Given the description of an element on the screen output the (x, y) to click on. 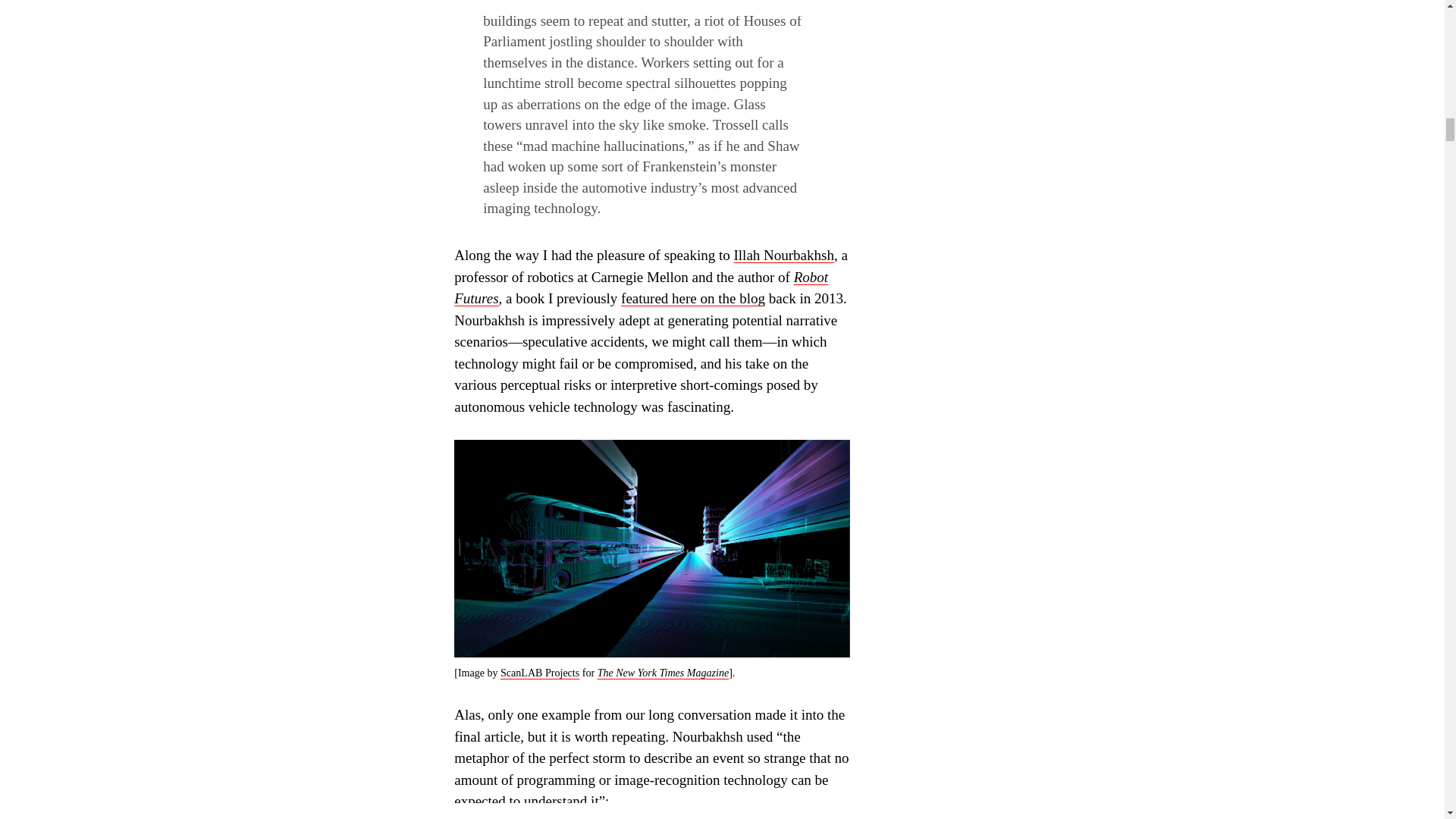
The New York Times Magazine (662, 672)
Illah Nourbakhsh (783, 254)
featured here on the blog (693, 298)
Robot Futures (641, 288)
ScanLAB Projects (539, 672)
